Given the description of an element on the screen output the (x, y) to click on. 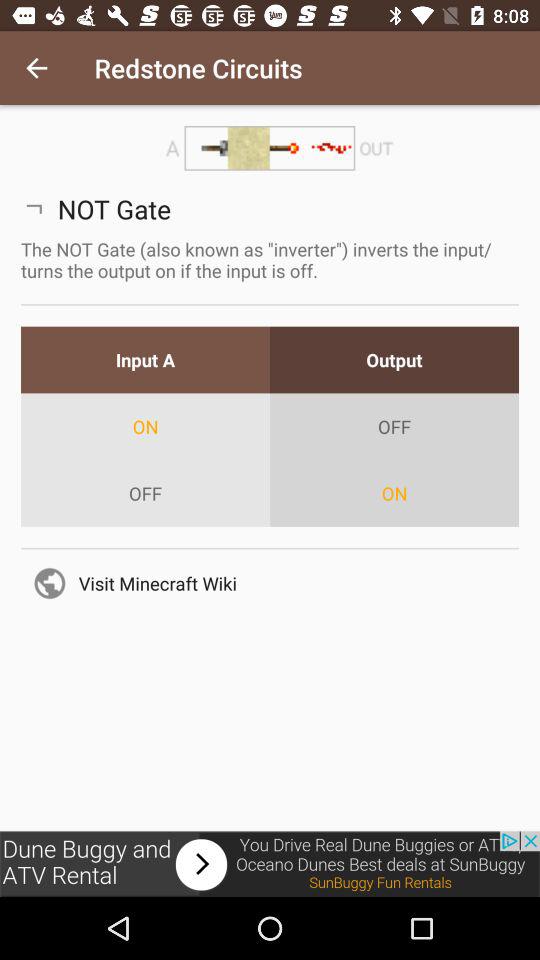
go to advertisement page (270, 864)
